Given the description of an element on the screen output the (x, y) to click on. 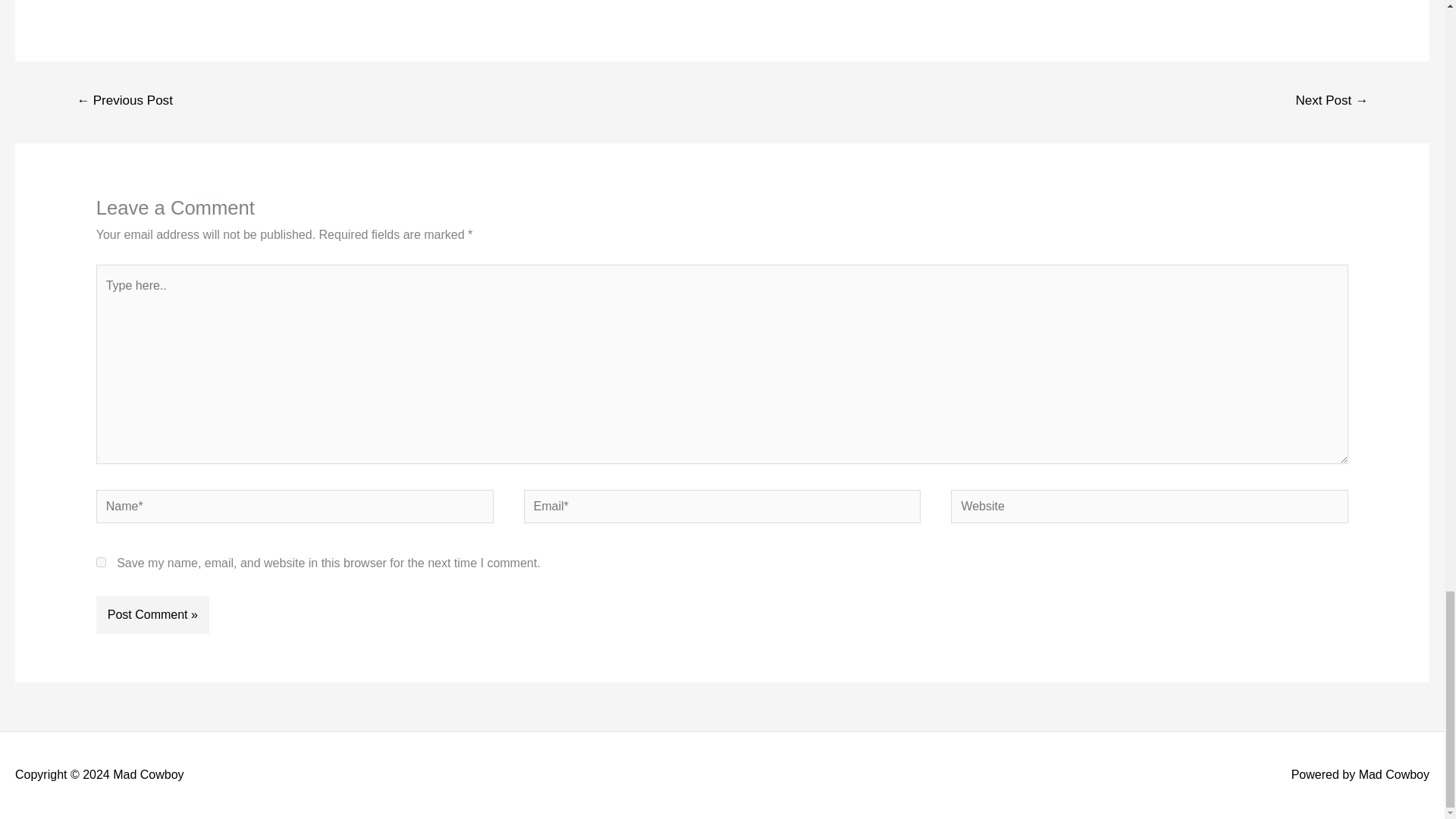
yes (101, 562)
